Given the description of an element on the screen output the (x, y) to click on. 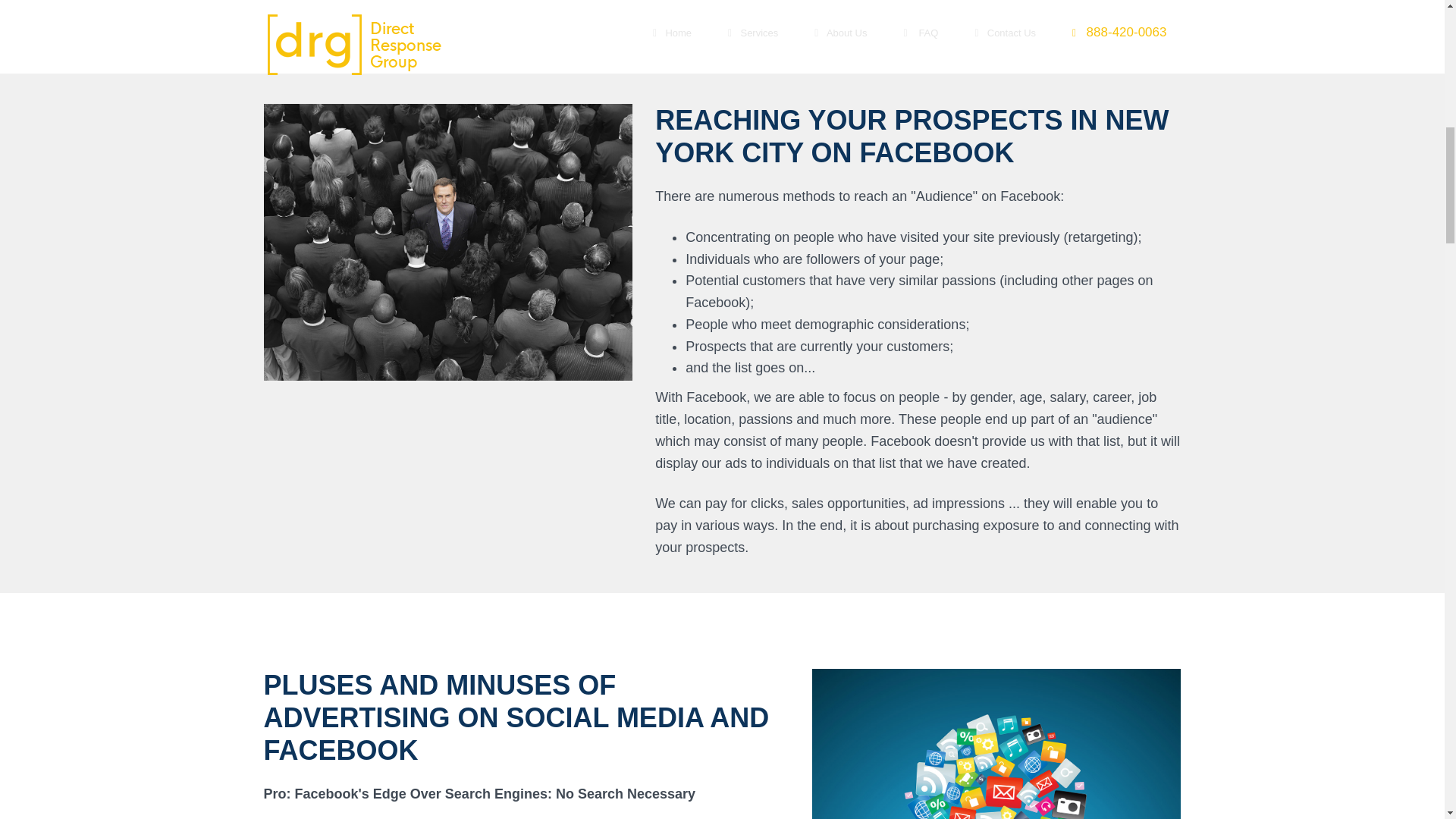
ideas in social media marketing with Facebook (996, 744)
target your audience In New York City with Facebook (448, 242)
